Given the description of an element on the screen output the (x, y) to click on. 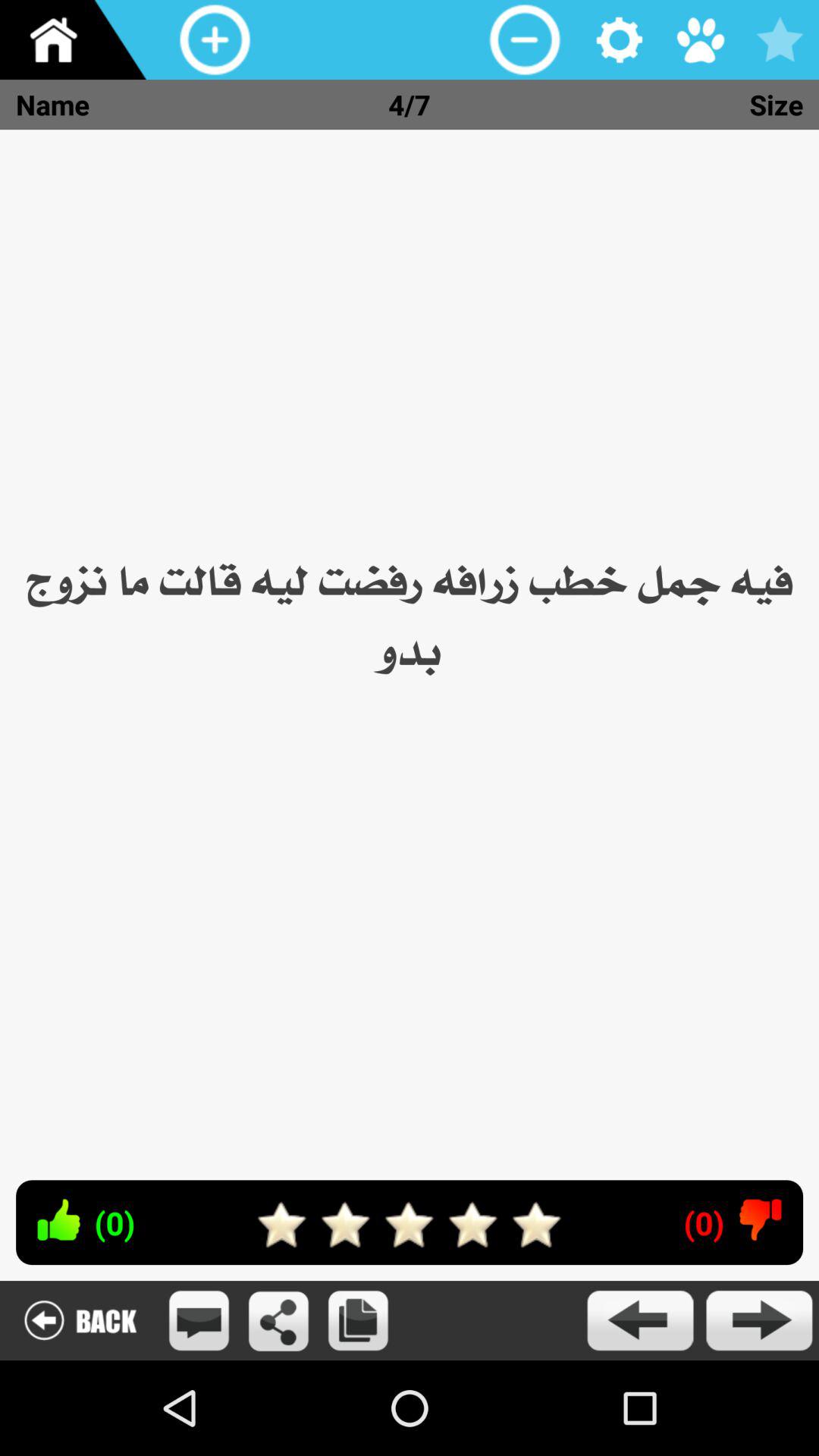
go to home (79, 39)
